Given the description of an element on the screen output the (x, y) to click on. 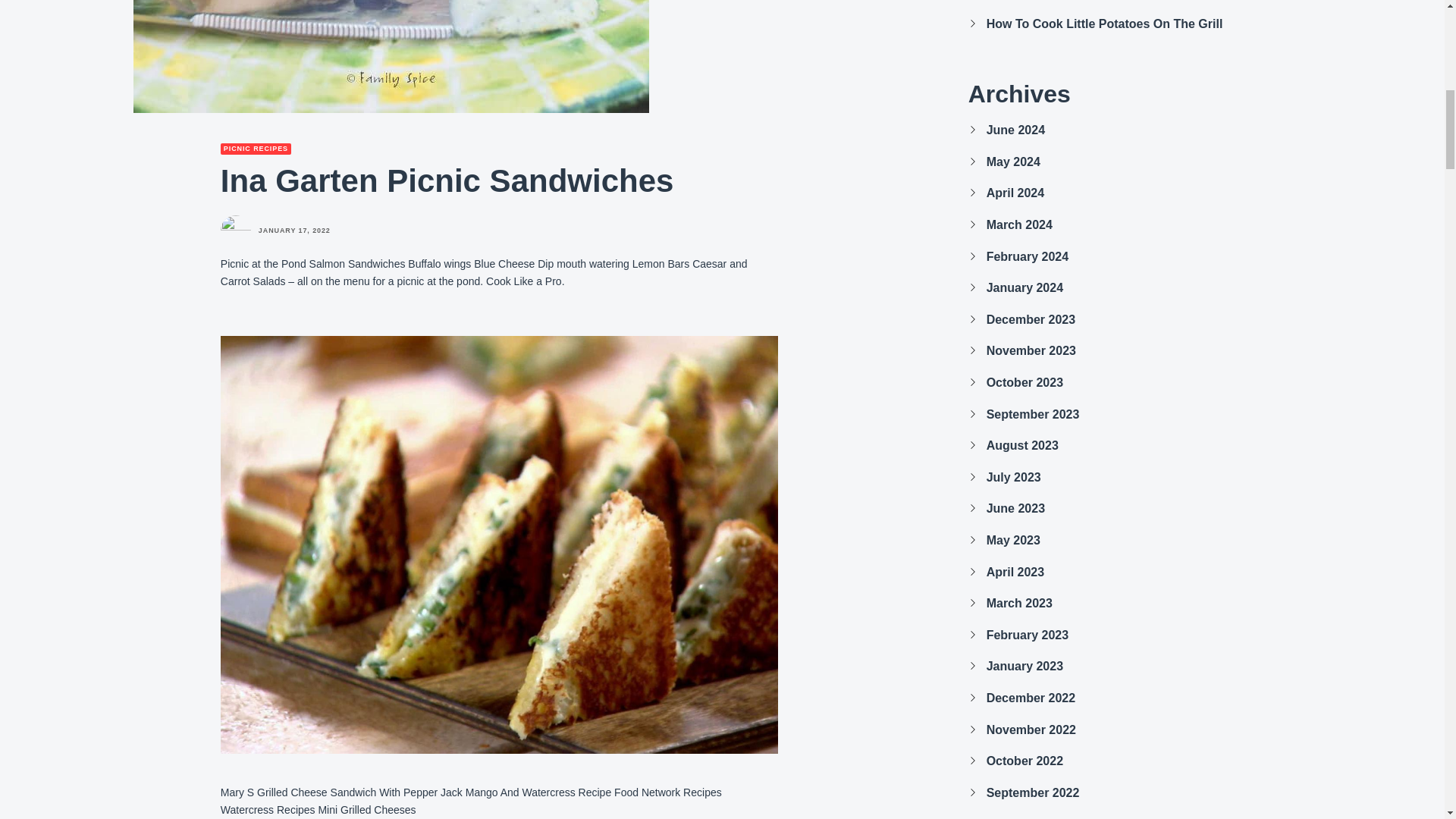
Ina Garten Picnic Sandwiches (391, 56)
PICNIC RECIPES (256, 148)
JANUARY 17, 2022 (294, 230)
